Given the description of an element on the screen output the (x, y) to click on. 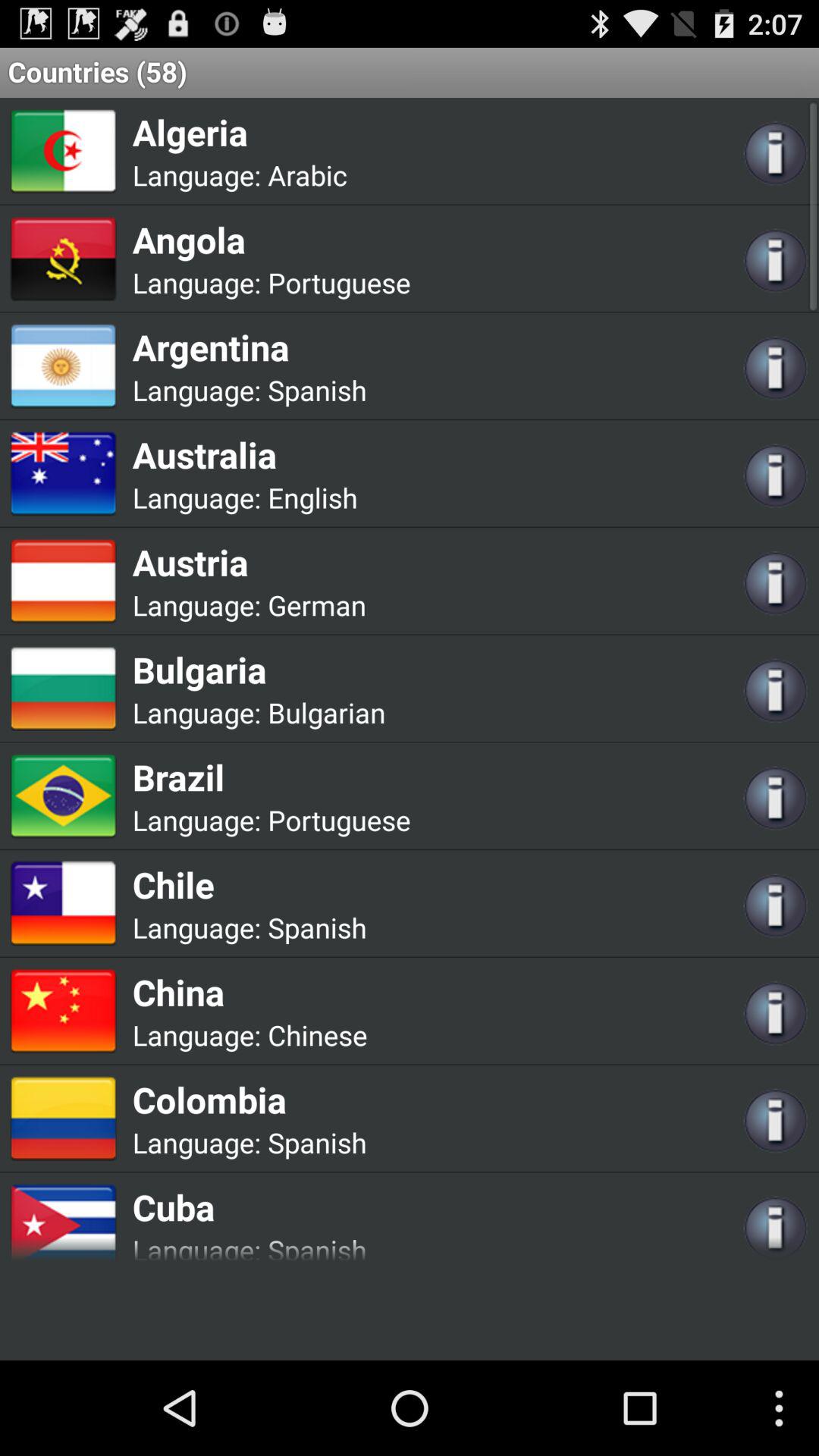
open the argentina app (249, 347)
